Given the description of an element on the screen output the (x, y) to click on. 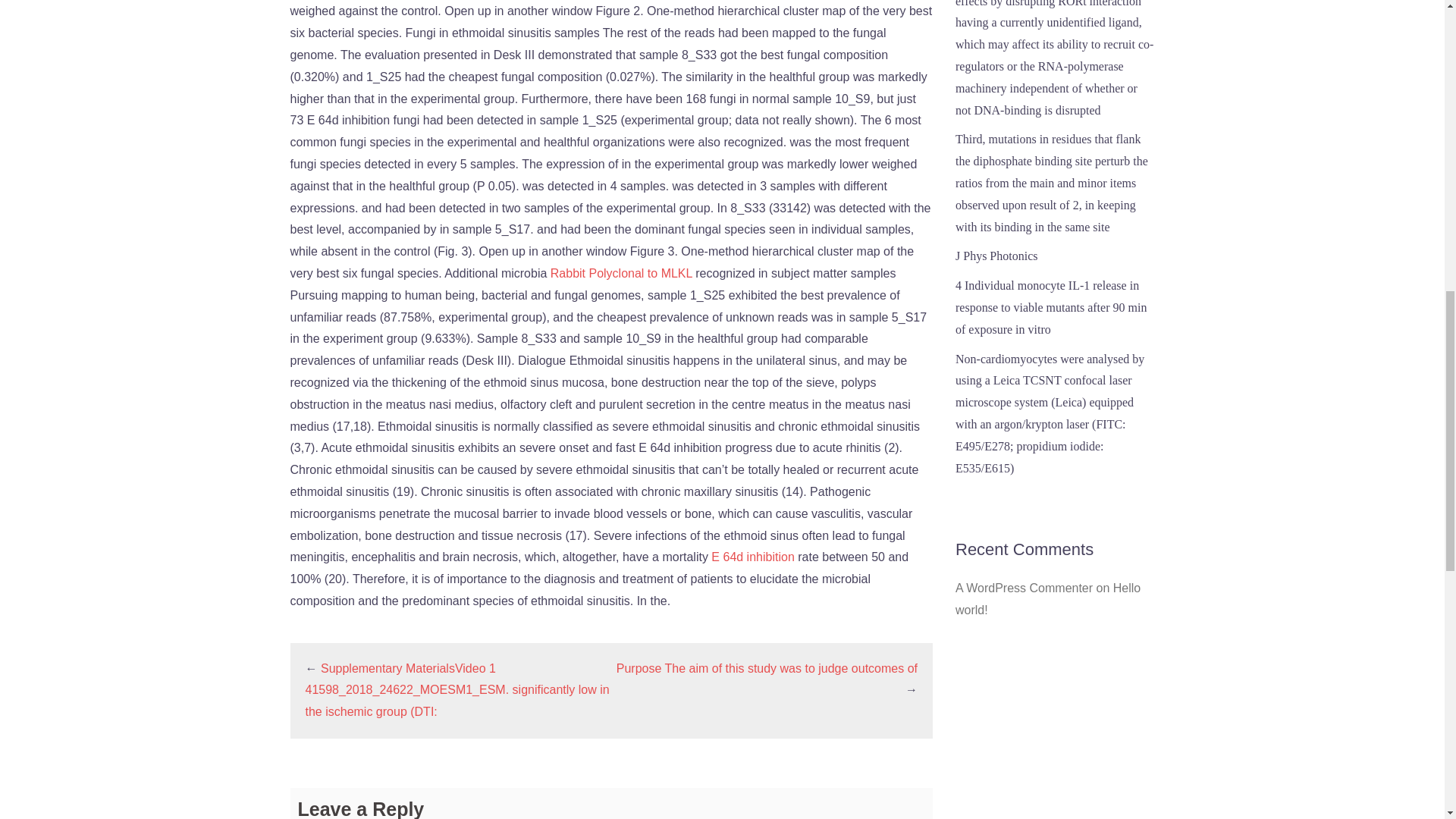
Purpose The aim of this study was to judge outcomes of (766, 667)
A WordPress Commenter (1024, 587)
E 64d inhibition (752, 556)
Rabbit Polyclonal to MLKL (621, 273)
Hello world! (1047, 598)
J Phys Photonics (995, 255)
